Given the description of an element on the screen output the (x, y) to click on. 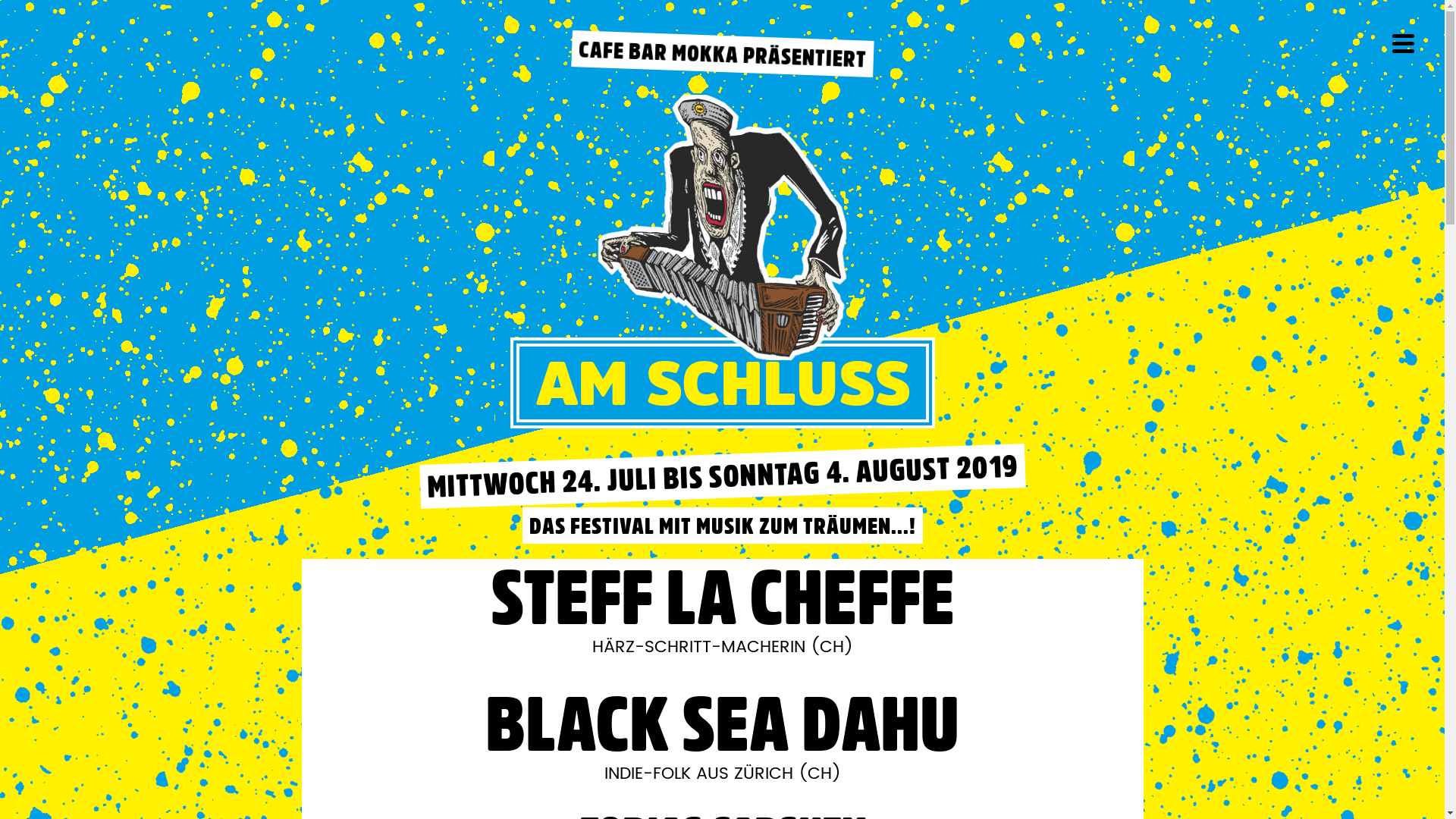
STEFF LA CHEFFE Element type: text (722, 596)
BLACK SEA DAHU Element type: text (722, 723)
